Given the description of an element on the screen output the (x, y) to click on. 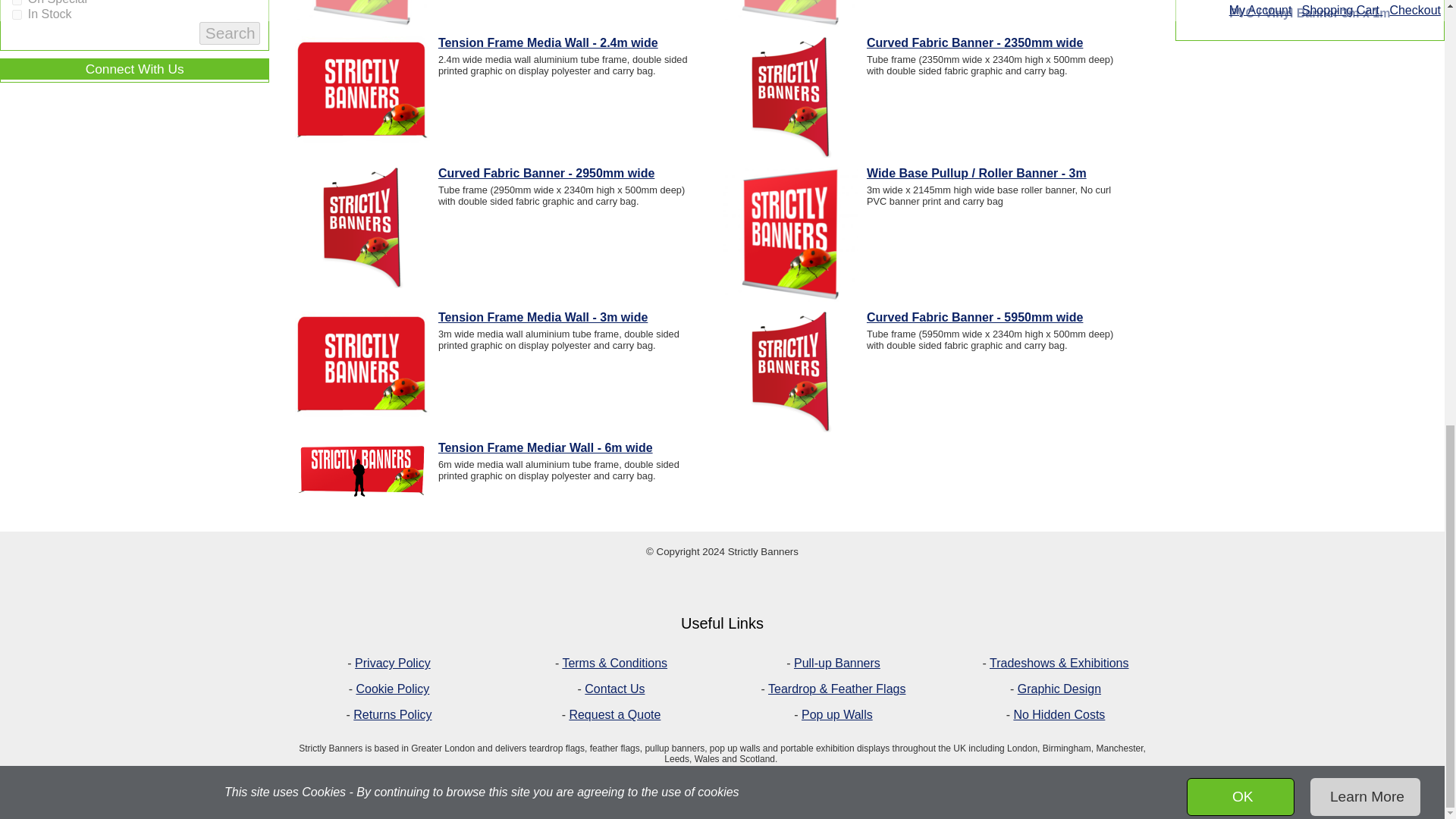
Search (229, 33)
1 (16, 14)
1 (16, 2)
